Given the description of an element on the screen output the (x, y) to click on. 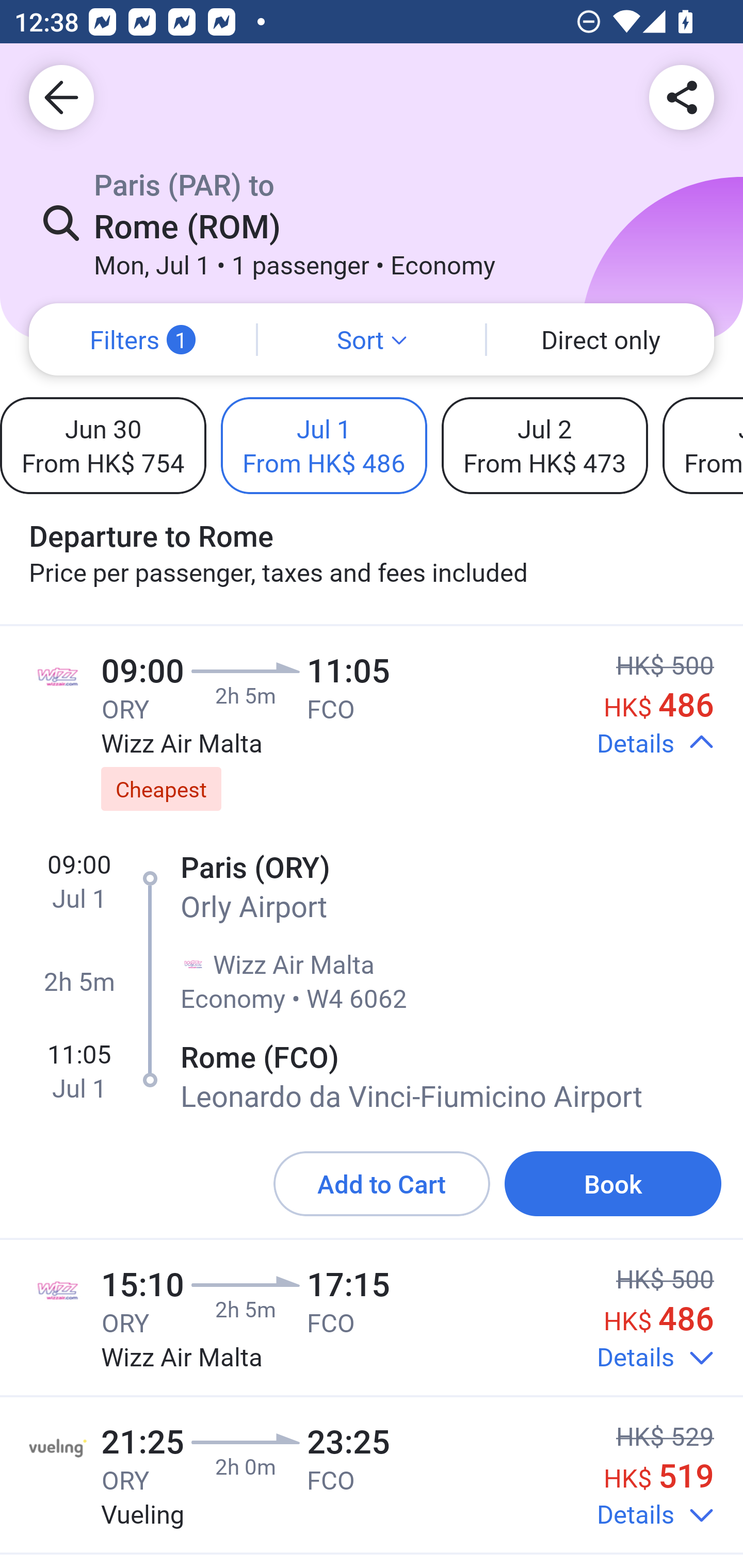
Filters 1 (141, 339)
Sort (371, 339)
Direct only (600, 339)
Jun 30 From HK$ 754 (103, 444)
Jul 1 From HK$ 486 (323, 444)
Jul 2 From HK$ 473 (544, 444)
Add to Cart (381, 1183)
Book (612, 1183)
